Given the description of an element on the screen output the (x, y) to click on. 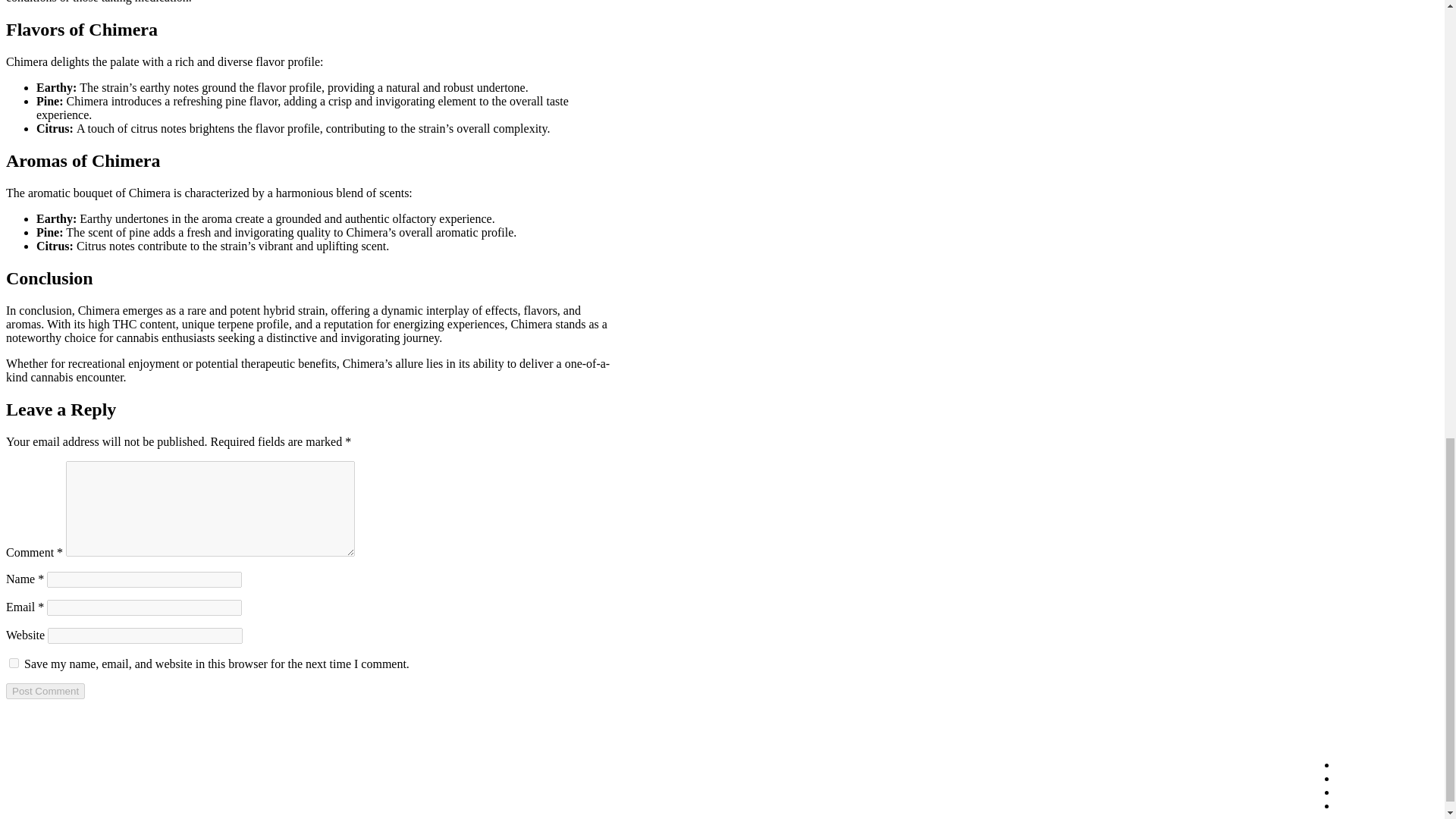
Post Comment (44, 691)
Post Comment (44, 691)
Menu (1370, 764)
FAQs (1370, 791)
yes (13, 663)
